Given the description of an element on the screen output the (x, y) to click on. 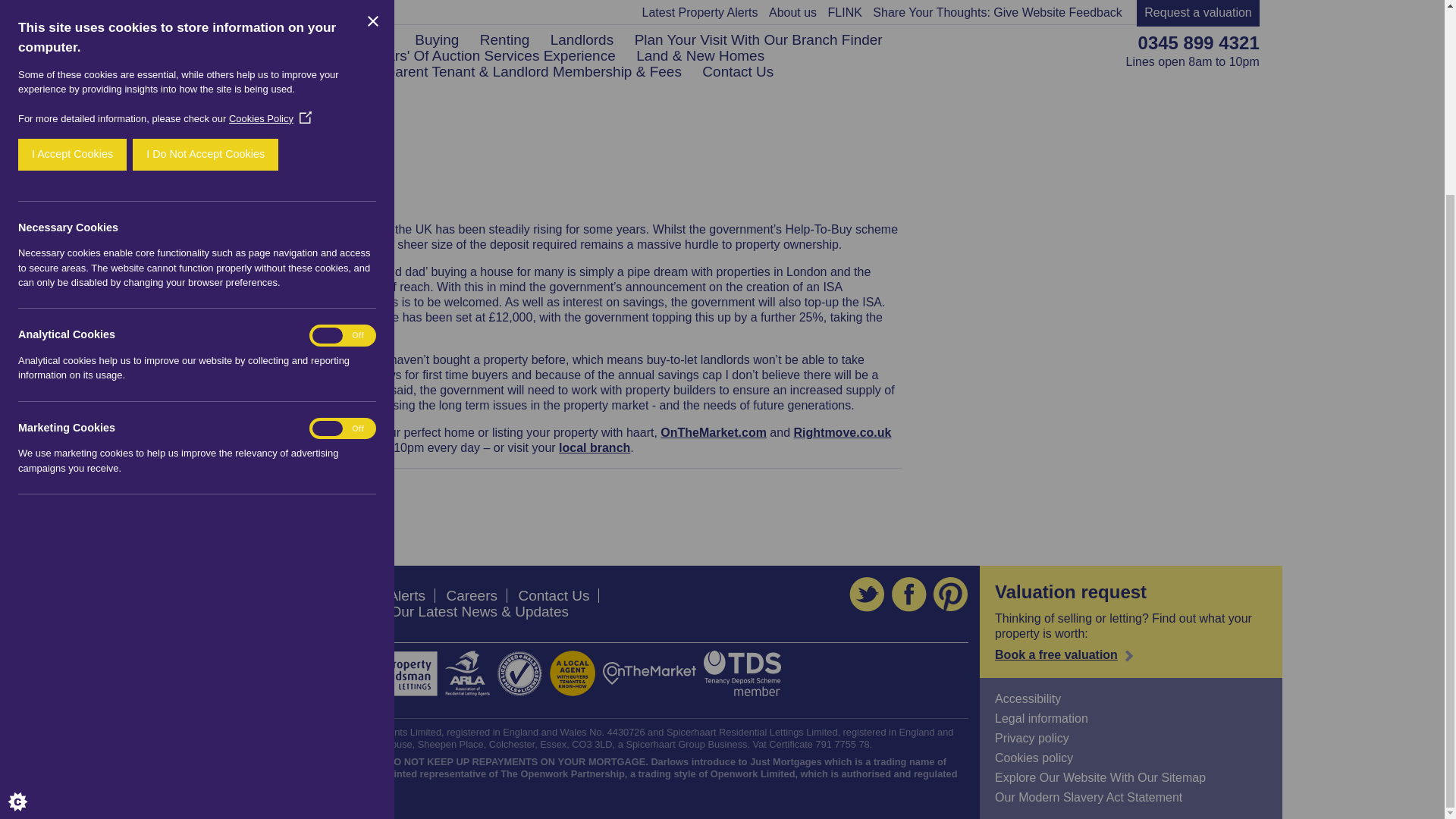
OnTheMarket.com (714, 431)
Contact Us (553, 595)
local branch (594, 447)
Rightmove.co.uk (842, 431)
Branch Finder (594, 447)
Latest Property Alerts (355, 595)
haart Intelligent Advice video - First Time Buyer ISA (316, 129)
Careers (471, 595)
